Given the description of an element on the screen output the (x, y) to click on. 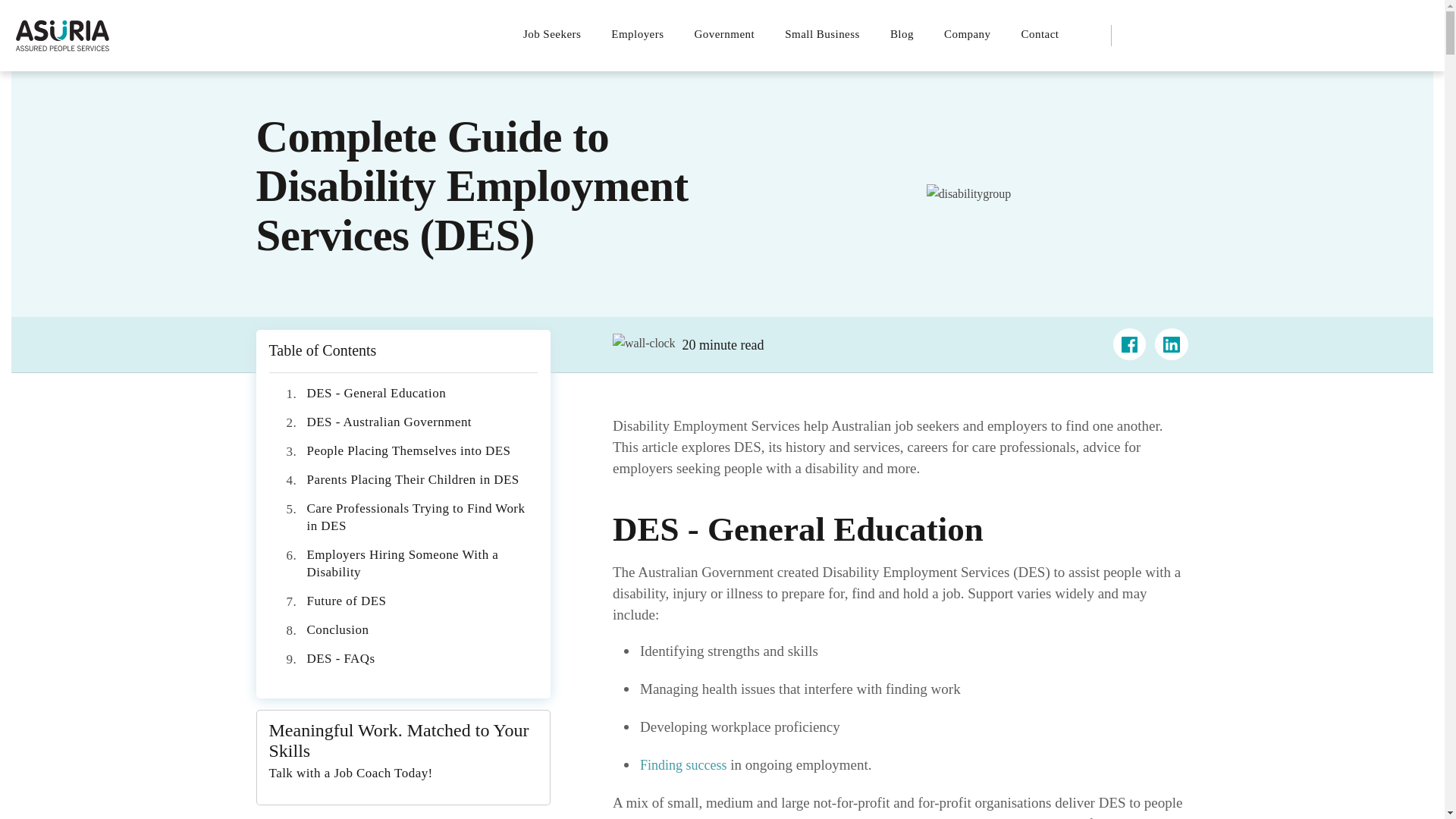
ASURIA logo col pos (62, 34)
DES - FAQs (339, 658)
Small Business (822, 33)
Care Professionals Trying to Find Work in DES (414, 517)
DES - Australian Government (388, 421)
Parents Placing Their Children in DES (411, 479)
Employers Hiring Someone With a Disability (401, 563)
Conclusion (336, 629)
Blog (901, 33)
Contact (1040, 33)
Company (967, 33)
Job Seekers (558, 33)
Employers (636, 33)
DES - General Education (375, 392)
Government (724, 33)
